Given the description of an element on the screen output the (x, y) to click on. 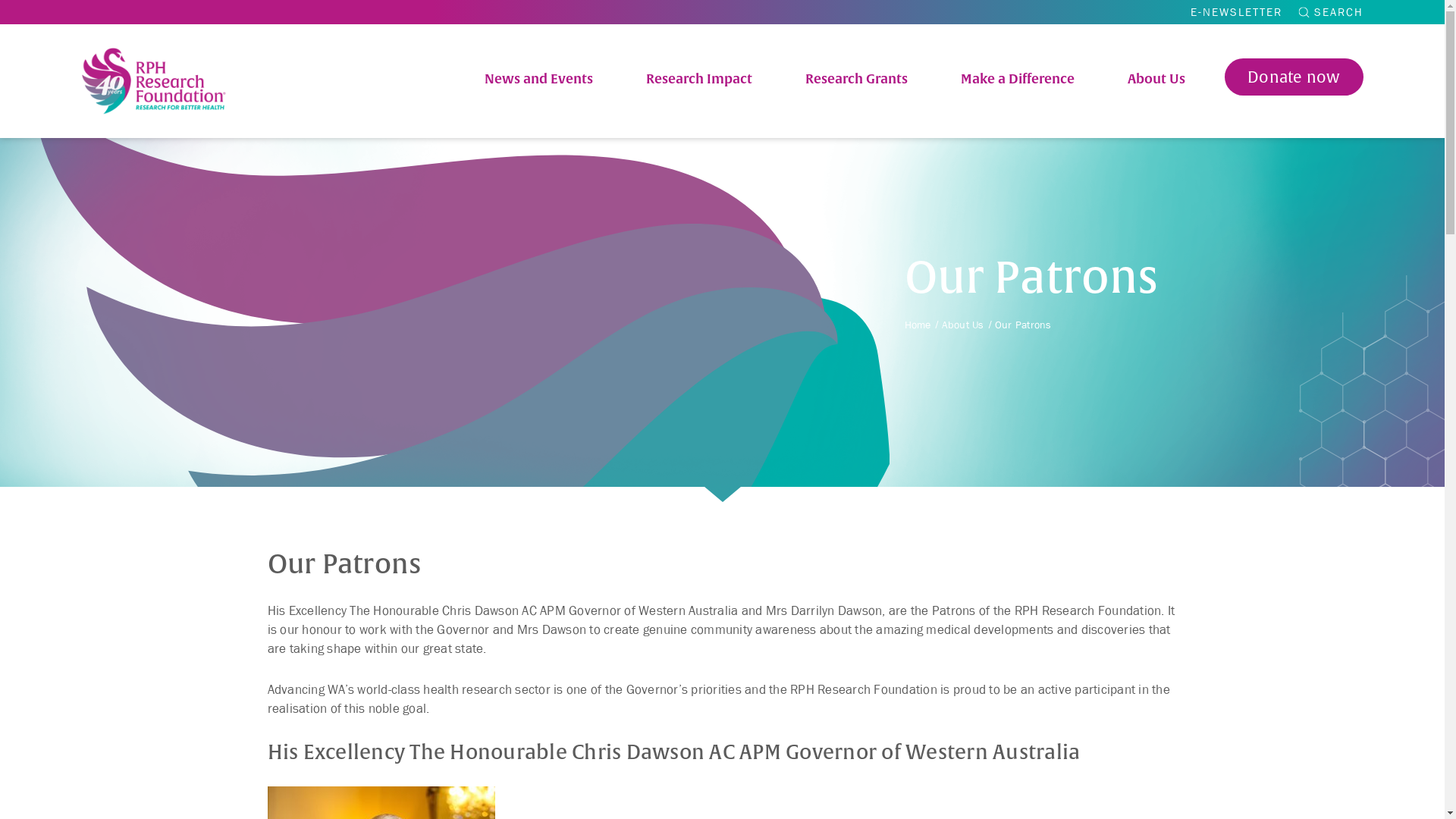
Donate now Element type: text (1293, 76)
Home Element type: text (916, 324)
About Us Element type: text (962, 324)
Make a Difference Element type: text (1016, 79)
Research Impact Element type: text (699, 79)
About Us Element type: text (1155, 79)
E-NEWSLETTER Element type: text (1236, 11)
Research Grants Element type: text (856, 79)
News and Events Element type: text (537, 79)
SEARCH Element type: text (1329, 11)
